Given the description of an element on the screen output the (x, y) to click on. 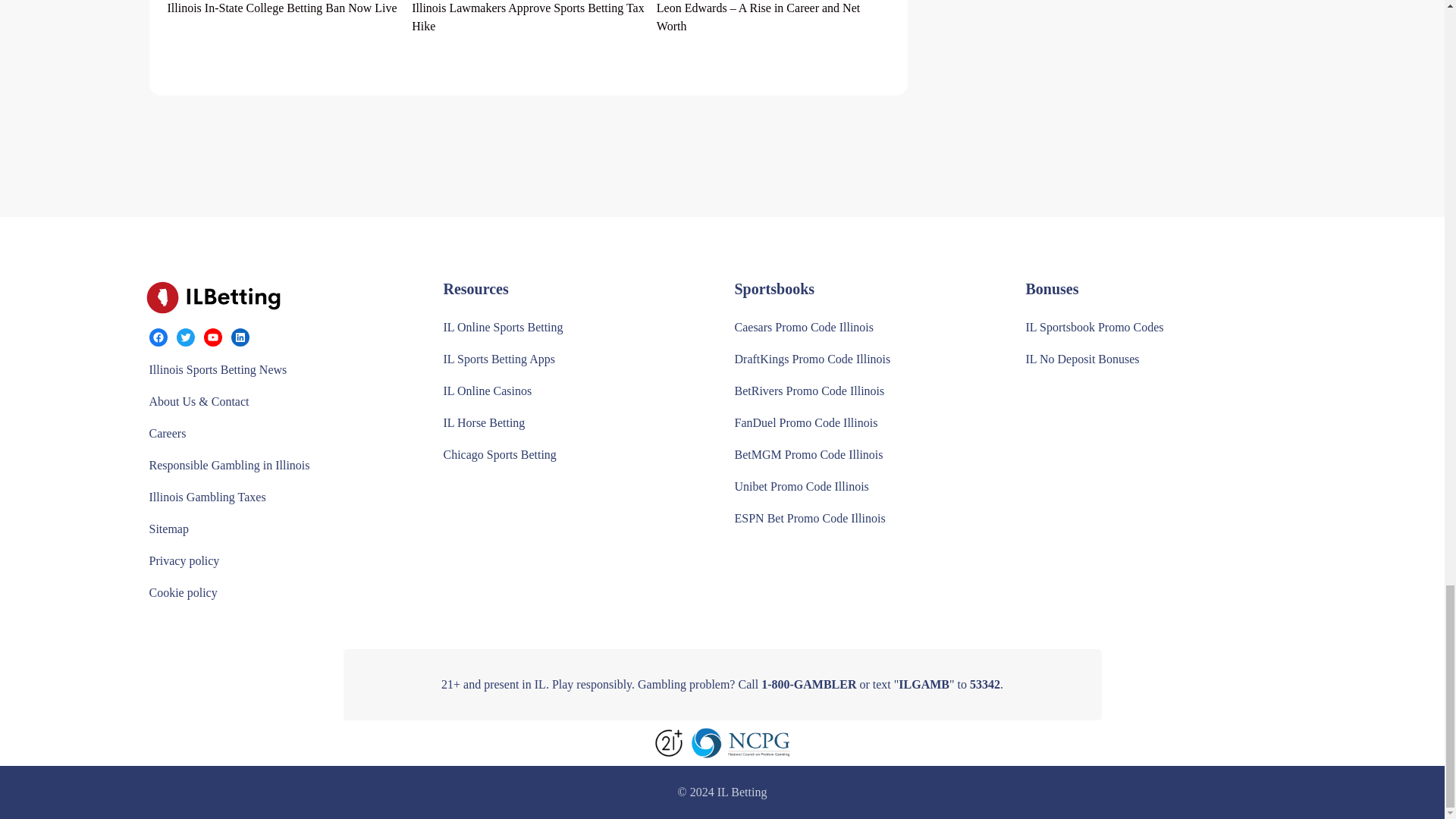
Illinois Lawmakers Approve Sports Betting Tax Hike (528, 16)
Illinois In-State College Betting Ban Now Live (281, 7)
